Given the description of an element on the screen output the (x, y) to click on. 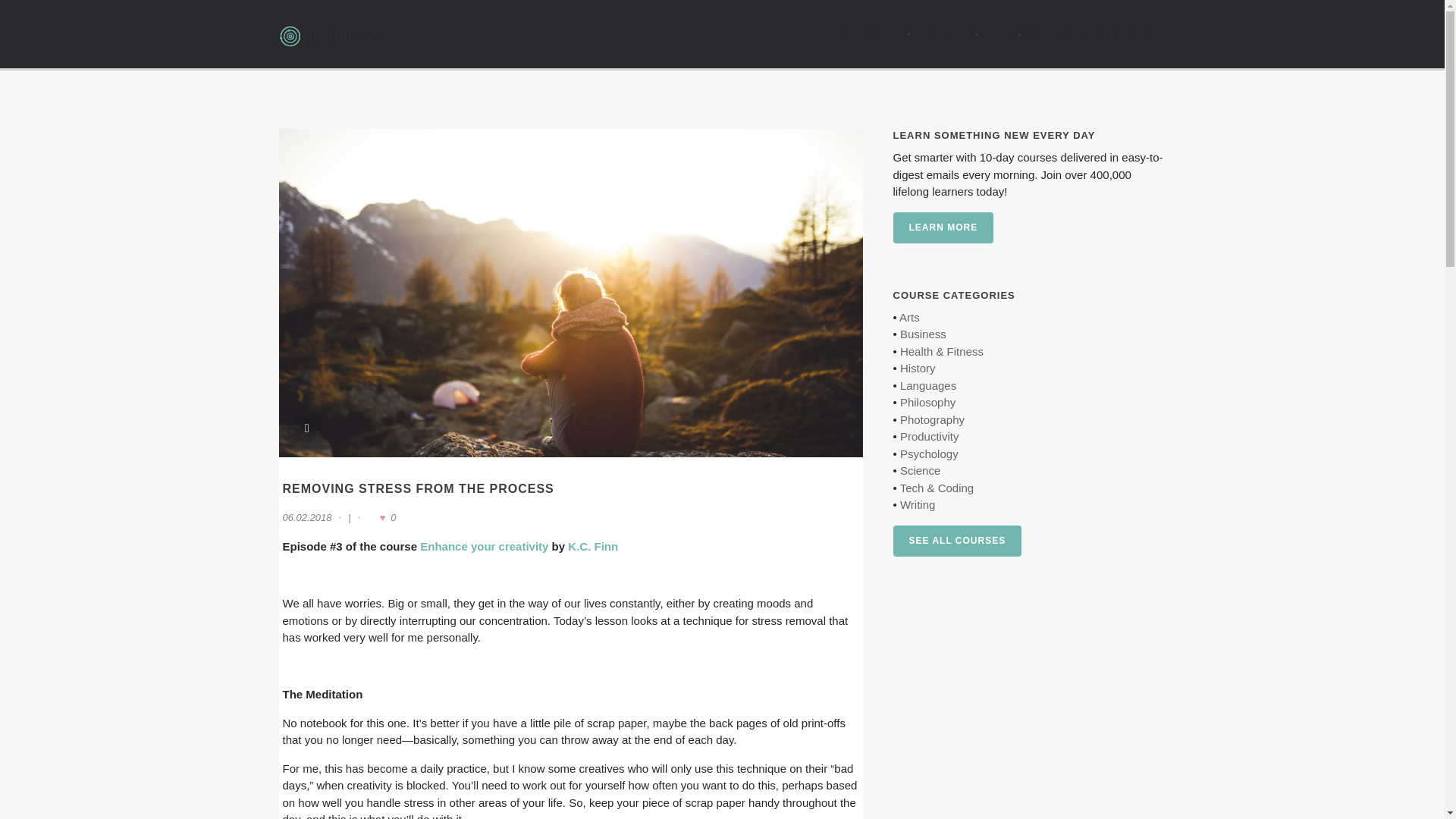
Writing (916, 504)
Business (922, 333)
Languages (927, 385)
Enhance your creativity (484, 545)
Psychology (928, 453)
COURSES (862, 33)
Philosophy (927, 401)
Productivity (929, 436)
BECOME A TEACHER (1097, 33)
Courses (862, 33)
LEARN MORE (943, 227)
SEE ALL COURSES (957, 540)
History (917, 367)
K.C. Finn (592, 545)
Photography (931, 419)
